Given the description of an element on the screen output the (x, y) to click on. 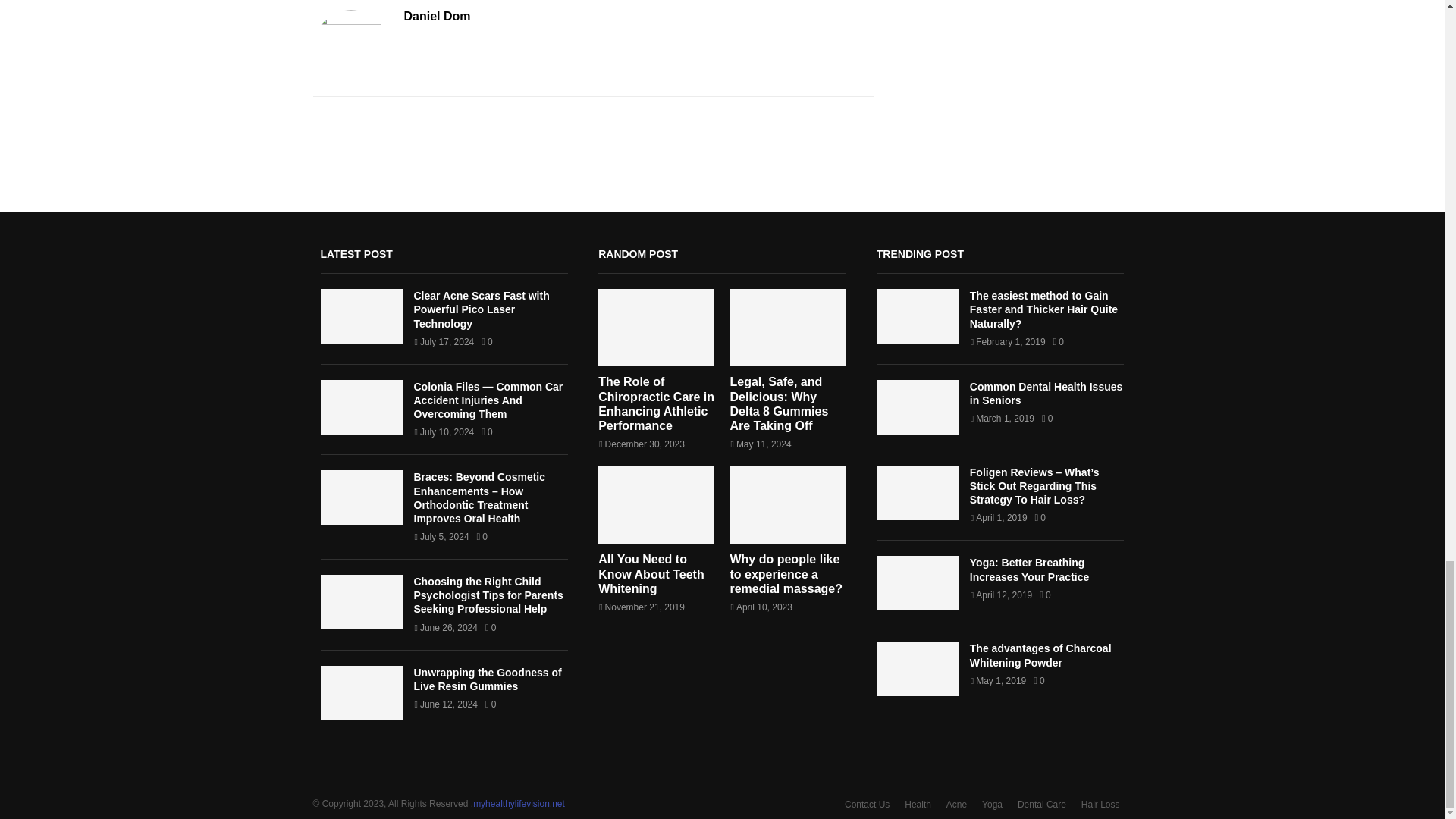
Daniel Dom (436, 17)
Posts by Daniel Dom (436, 17)
